Given the description of an element on the screen output the (x, y) to click on. 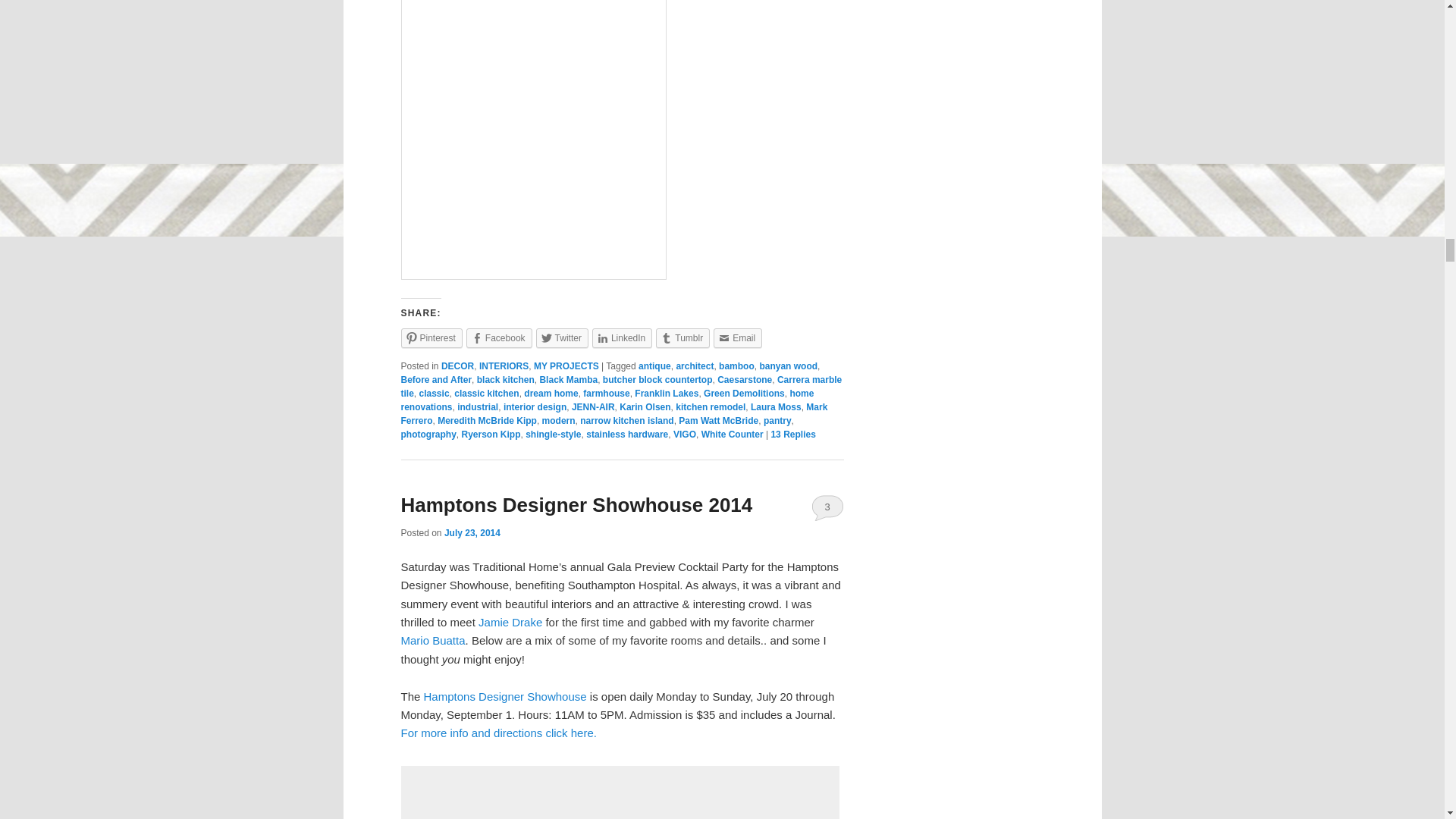
Click to share on LinkedIn (622, 337)
Click to share on Twitter (561, 337)
Click to share on Tumblr (683, 337)
Click to share on Pinterest (430, 337)
Click to email this to a friend (737, 337)
Share on Facebook (498, 337)
